Given the description of an element on the screen output the (x, y) to click on. 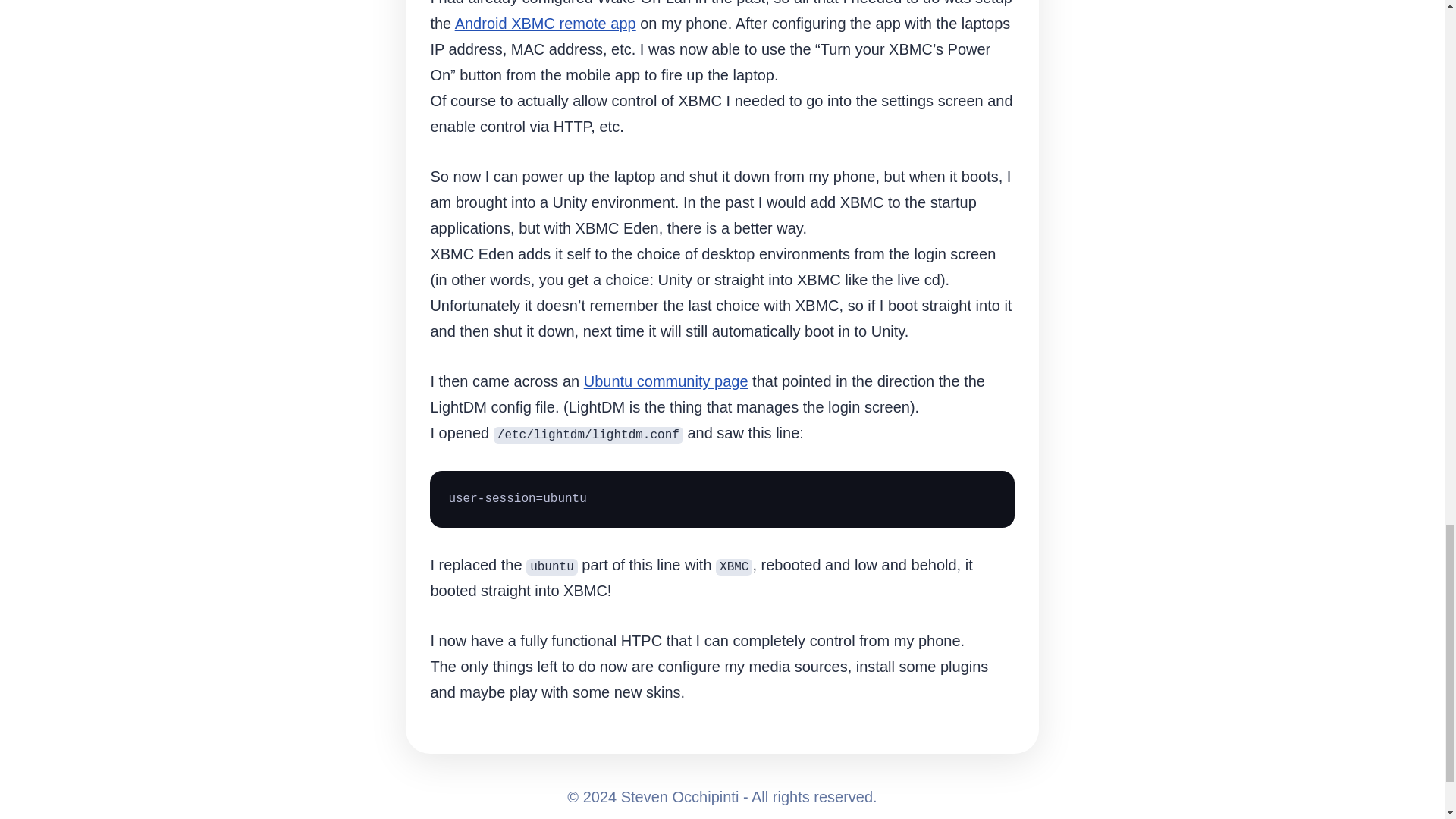
Android XBMC remote app (545, 23)
Ubuntu community page (665, 381)
